Given the description of an element on the screen output the (x, y) to click on. 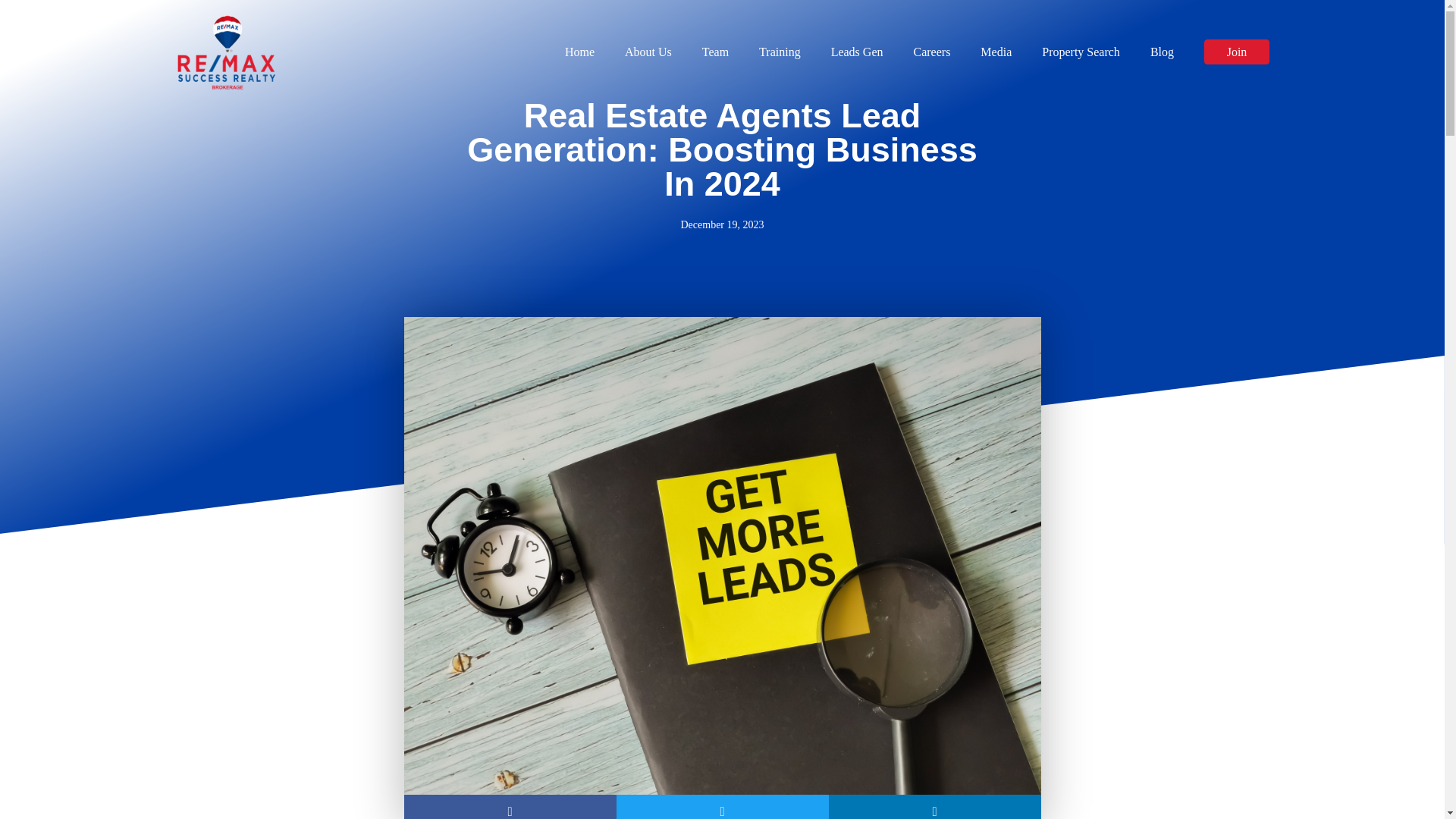
Blog (1161, 52)
Media (995, 52)
Training (779, 52)
About Us (647, 52)
Property Search (1080, 52)
Leads Gen (857, 52)
Team (715, 52)
Careers (931, 52)
December 19, 2023 (720, 224)
Home (579, 52)
